Given the description of an element on the screen output the (x, y) to click on. 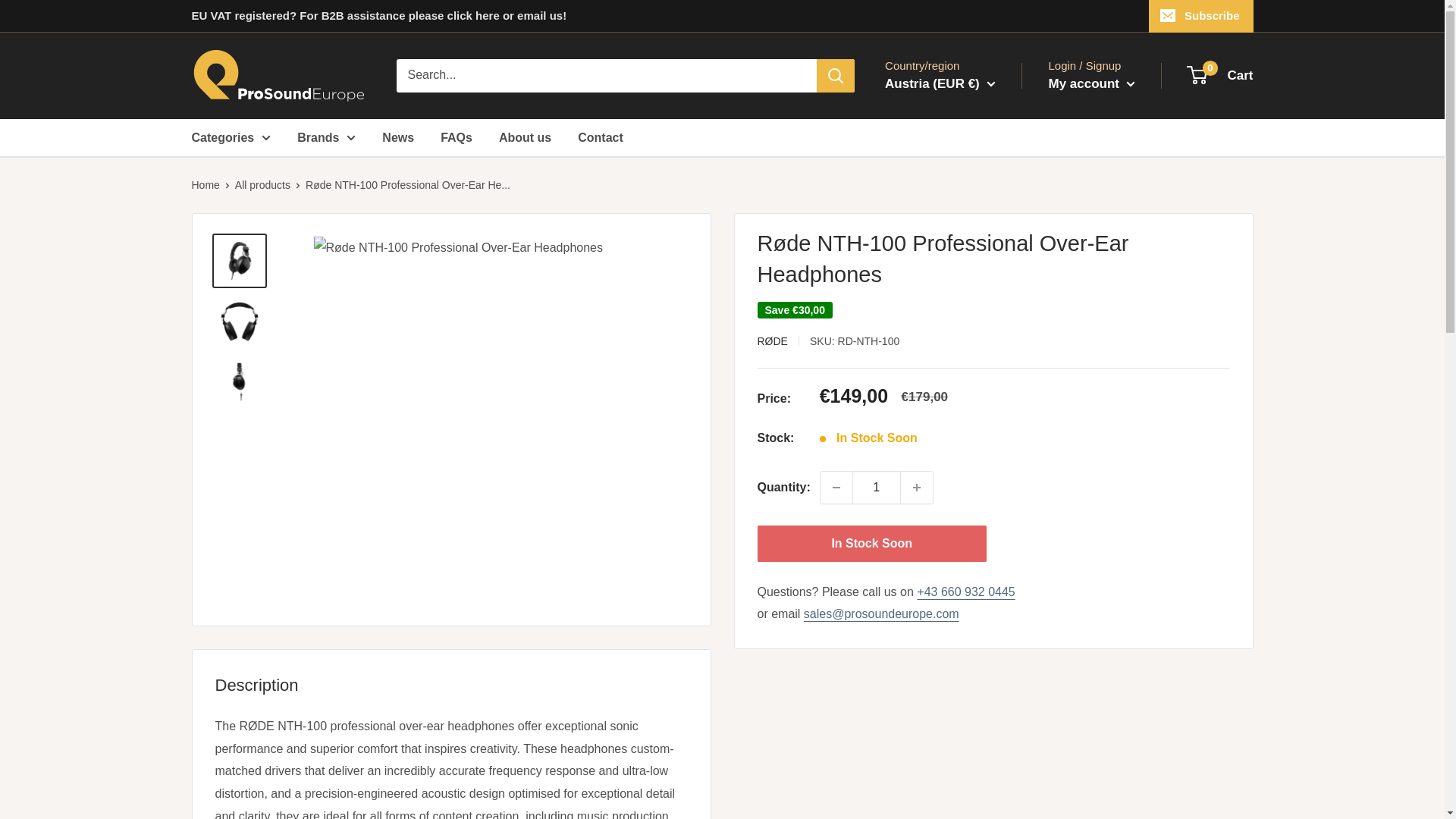
Subscribe (1200, 15)
Increase quantity by 1 (917, 487)
Decrease quantity by 1 (836, 487)
1 (876, 487)
